Given the description of an element on the screen output the (x, y) to click on. 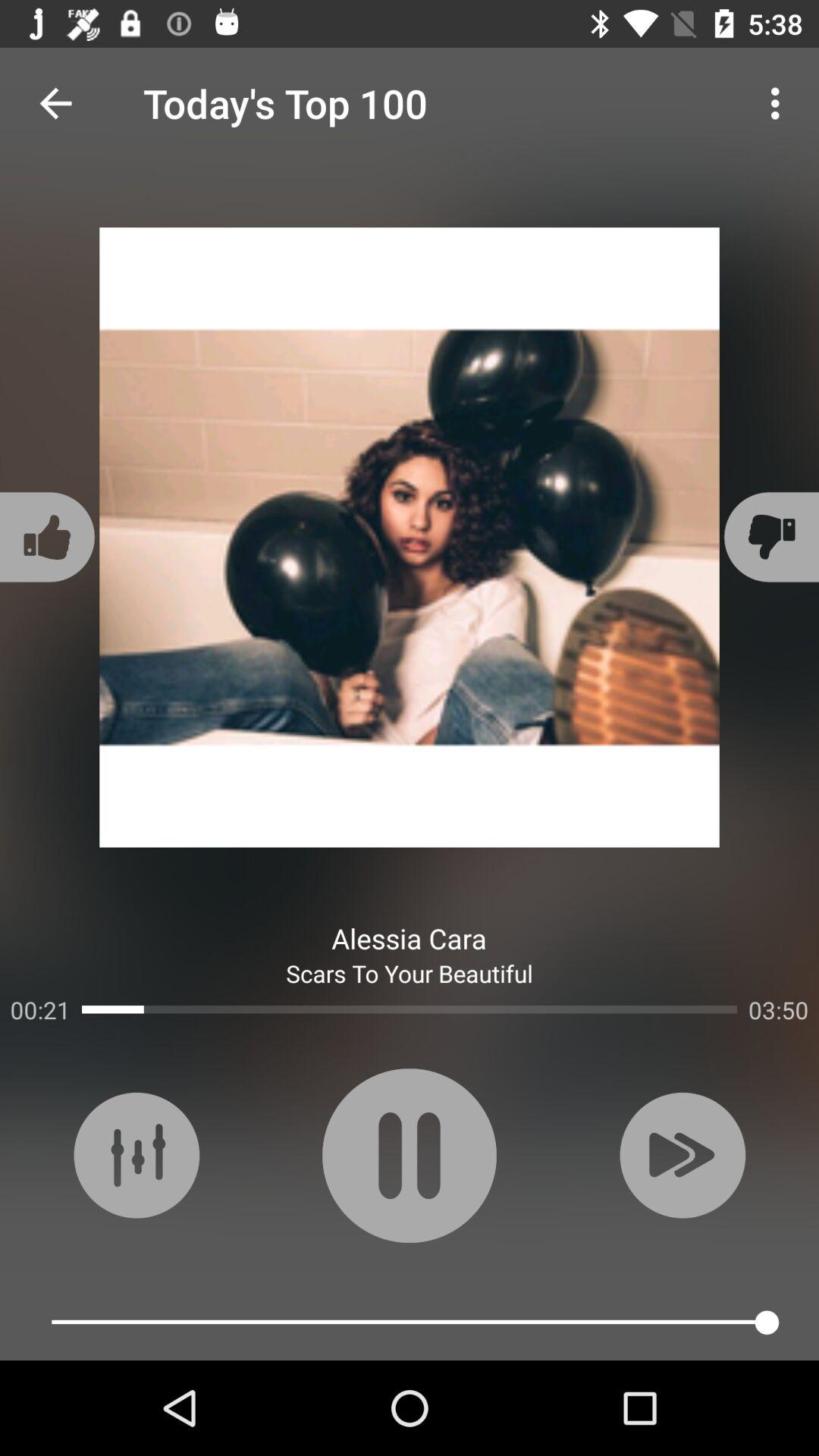
select item to the right of the today s top icon (779, 103)
